Given the description of an element on the screen output the (x, y) to click on. 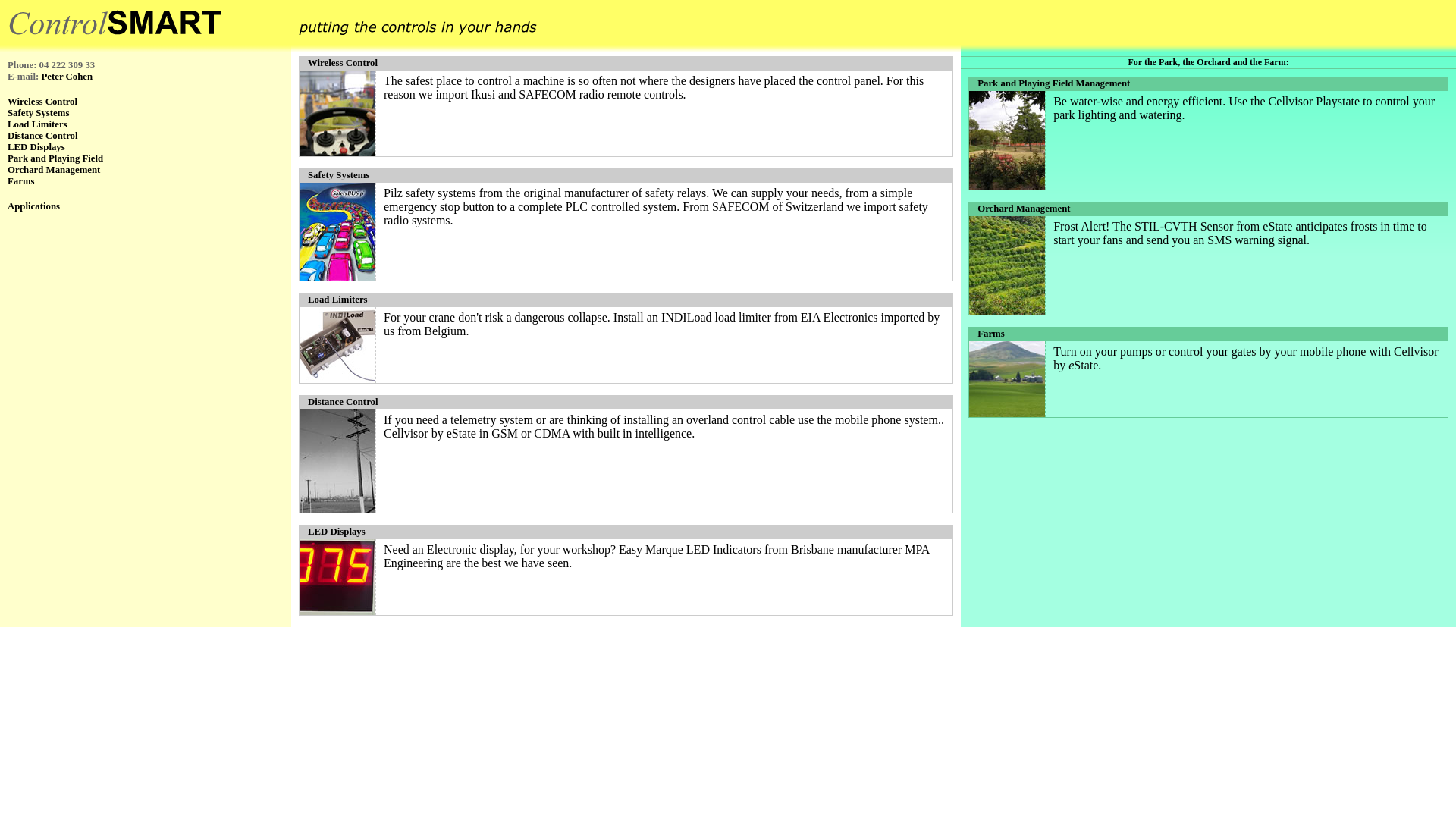
Orchard Management Element type: text (1207, 208)
Load Limiters Element type: text (145, 124)
Farms Element type: text (1207, 333)
Distance Control Element type: text (625, 401)
Safety Systems Element type: text (145, 113)
Distance Control Element type: text (145, 135)
Park and Playing Field Element type: text (145, 158)
Park and Playing Field Management Element type: text (1207, 83)
Load Limiters Element type: text (625, 299)
LED Displays Element type: text (145, 147)
Peter Cohen Element type: text (66, 76)
LED Displays Element type: text (625, 531)
Safety Systems Element type: text (625, 175)
Orchard Management Element type: text (145, 169)
Applications Element type: text (145, 206)
Wireless Control Element type: text (625, 63)
Wireless Control Element type: text (145, 101)
Farms Element type: text (145, 181)
